Given the description of an element on the screen output the (x, y) to click on. 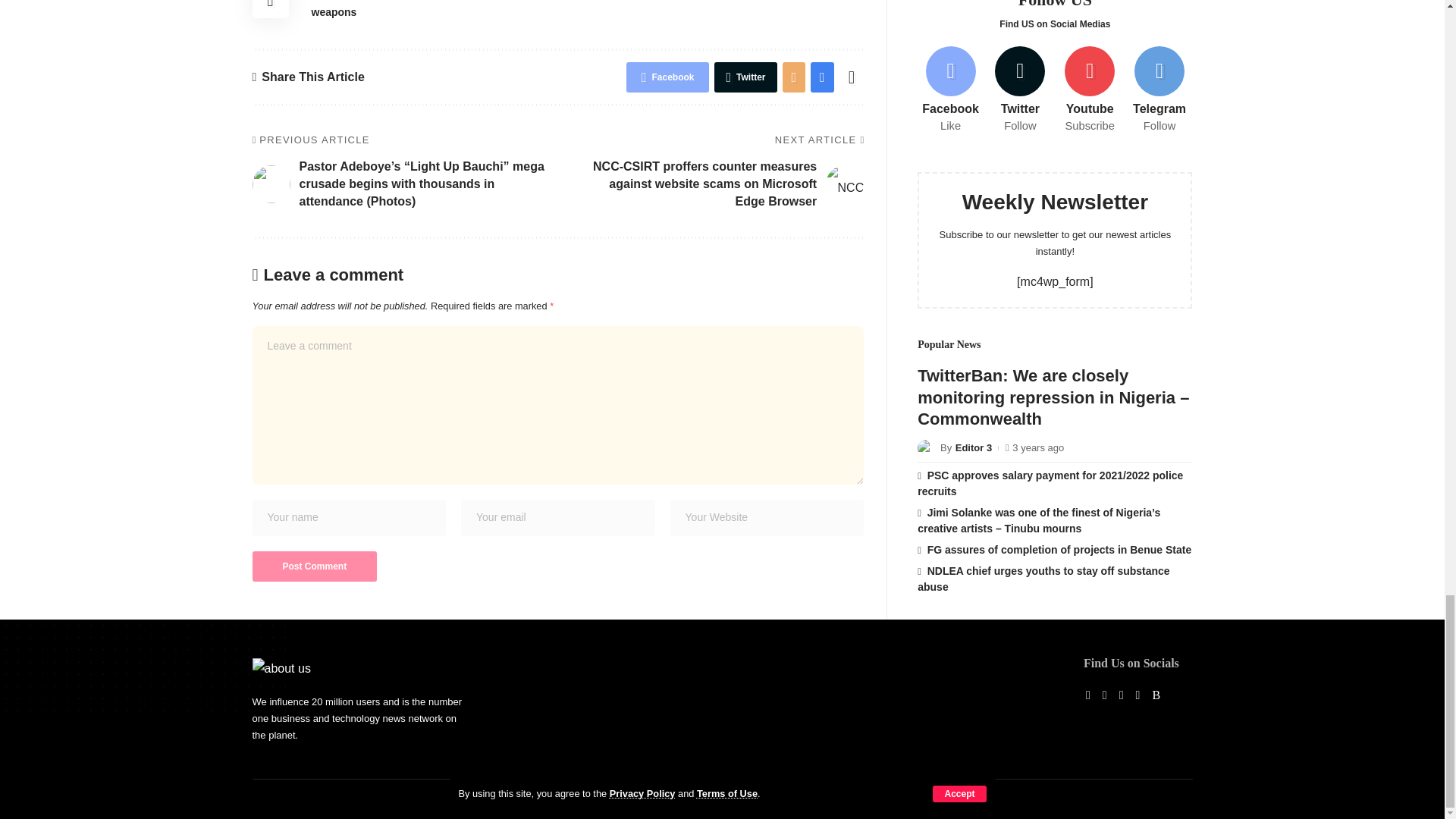
Post Comment (314, 566)
